Given the description of an element on the screen output the (x, y) to click on. 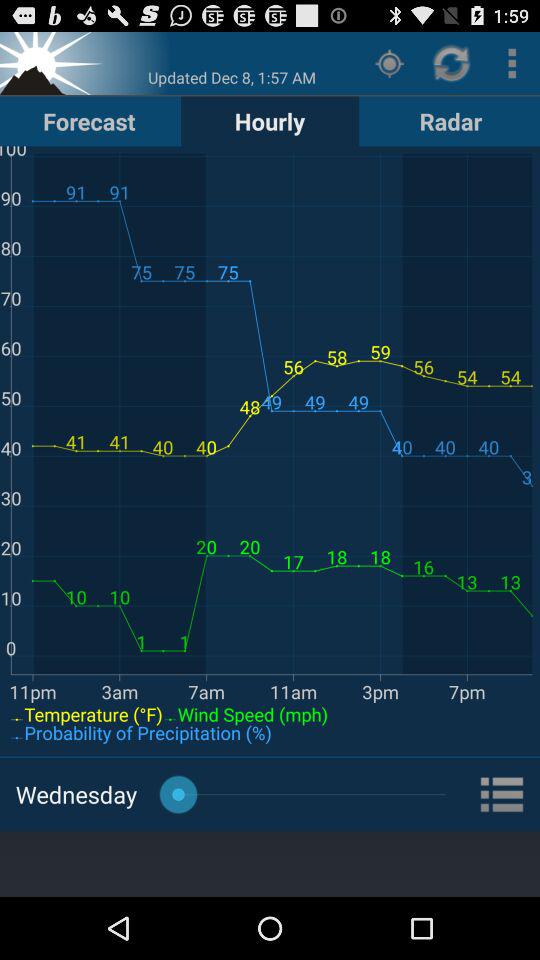
click the radar icon (450, 120)
